Given the description of an element on the screen output the (x, y) to click on. 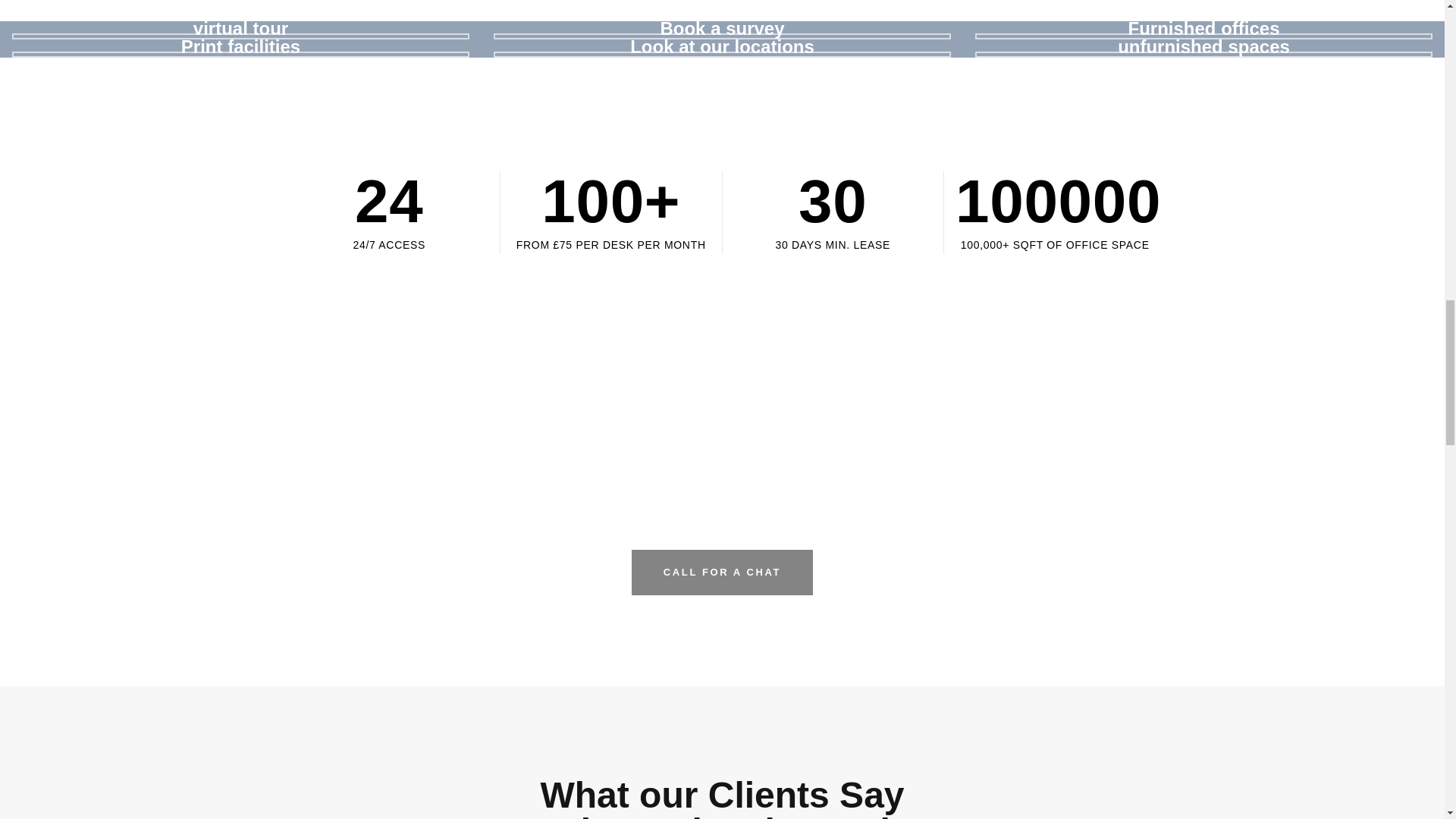
virtual tour (240, 30)
CALL FOR A CHAT (721, 572)
Book a survey (721, 30)
Look at our locations (721, 48)
Print facilities (240, 48)
